Given the description of an element on the screen output the (x, y) to click on. 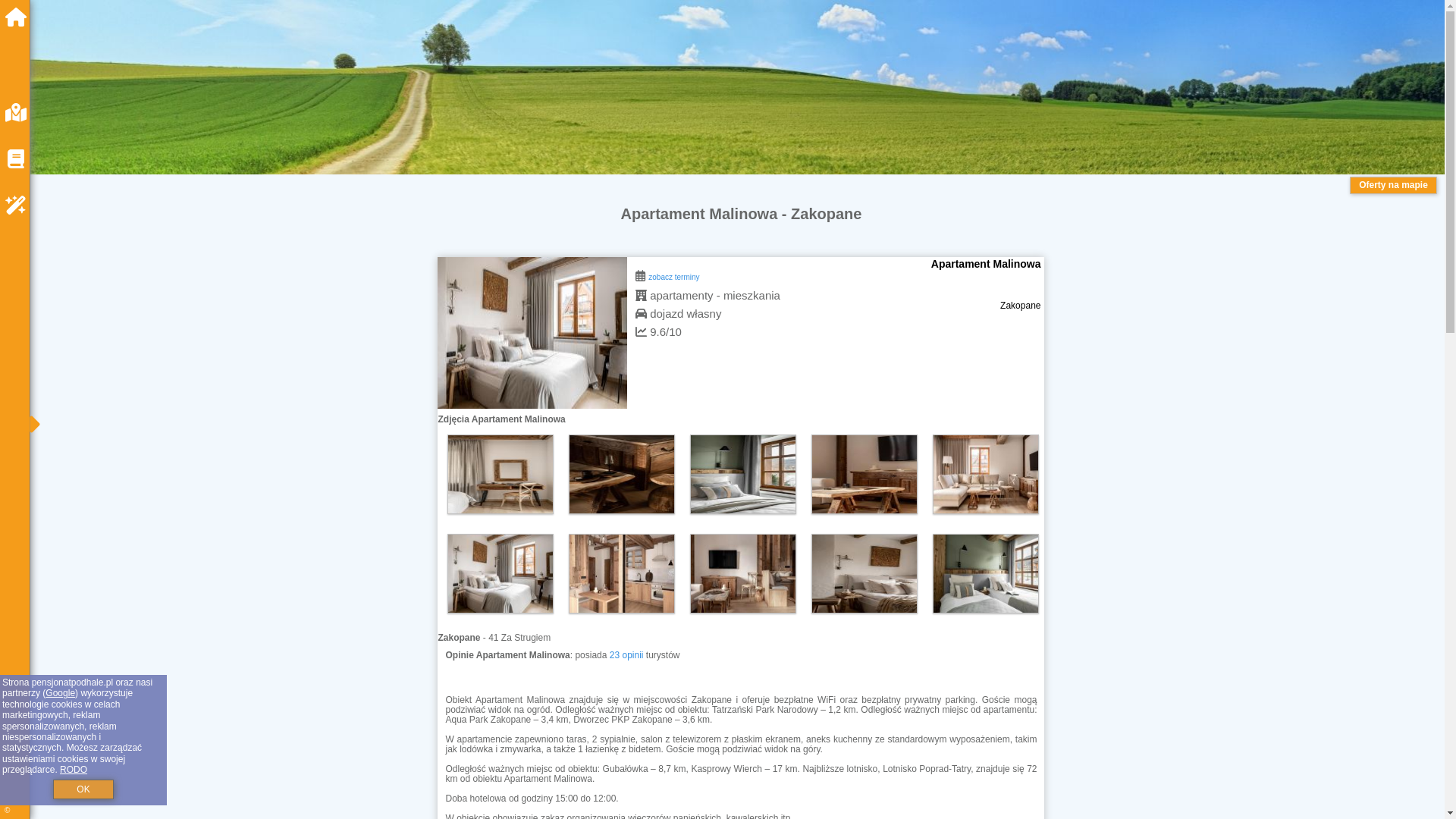
Urlop Wczasy Apartament Malinowa Polska (743, 474)
Urlop Wczasy Apartament Malinowa Polska (622, 474)
pensjonatpodhale.pl (19, 17)
Oferty na mapie (1393, 184)
Top Zakopane (621, 473)
RODO (73, 769)
Oferty na mapie (1393, 184)
Atrakcje turystyczne (19, 205)
zobacz terminy (672, 275)
Google (60, 692)
